Given the description of an element on the screen output the (x, y) to click on. 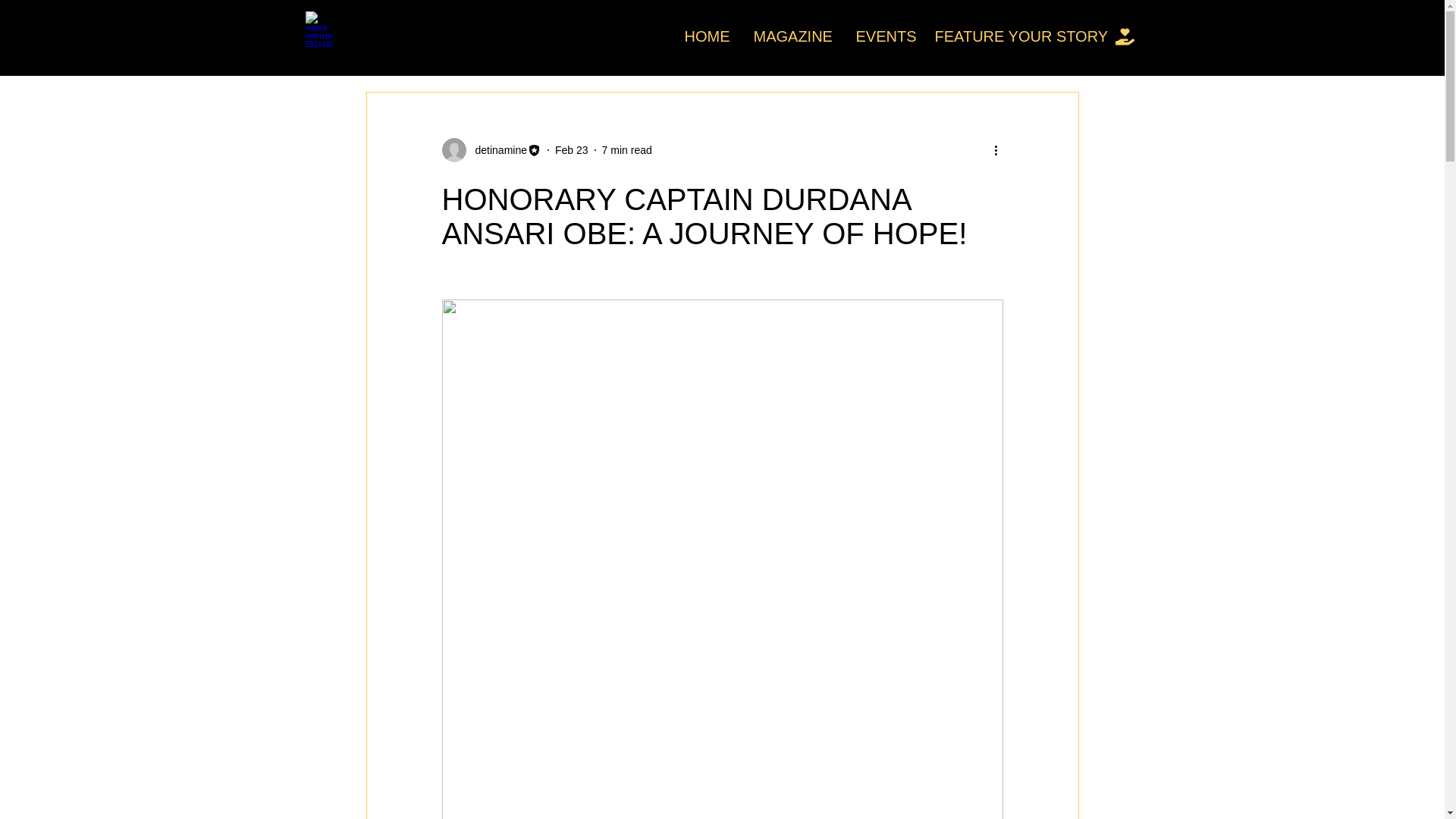
detinamine (491, 150)
HOME (707, 36)
detinamine (496, 150)
DONATE (1166, 36)
MAGAZINE (792, 36)
FEATURE YOUR STORY (1014, 36)
Feb 23 (571, 150)
EVENTS (883, 36)
7 min read (627, 150)
